Given the description of an element on the screen output the (x, y) to click on. 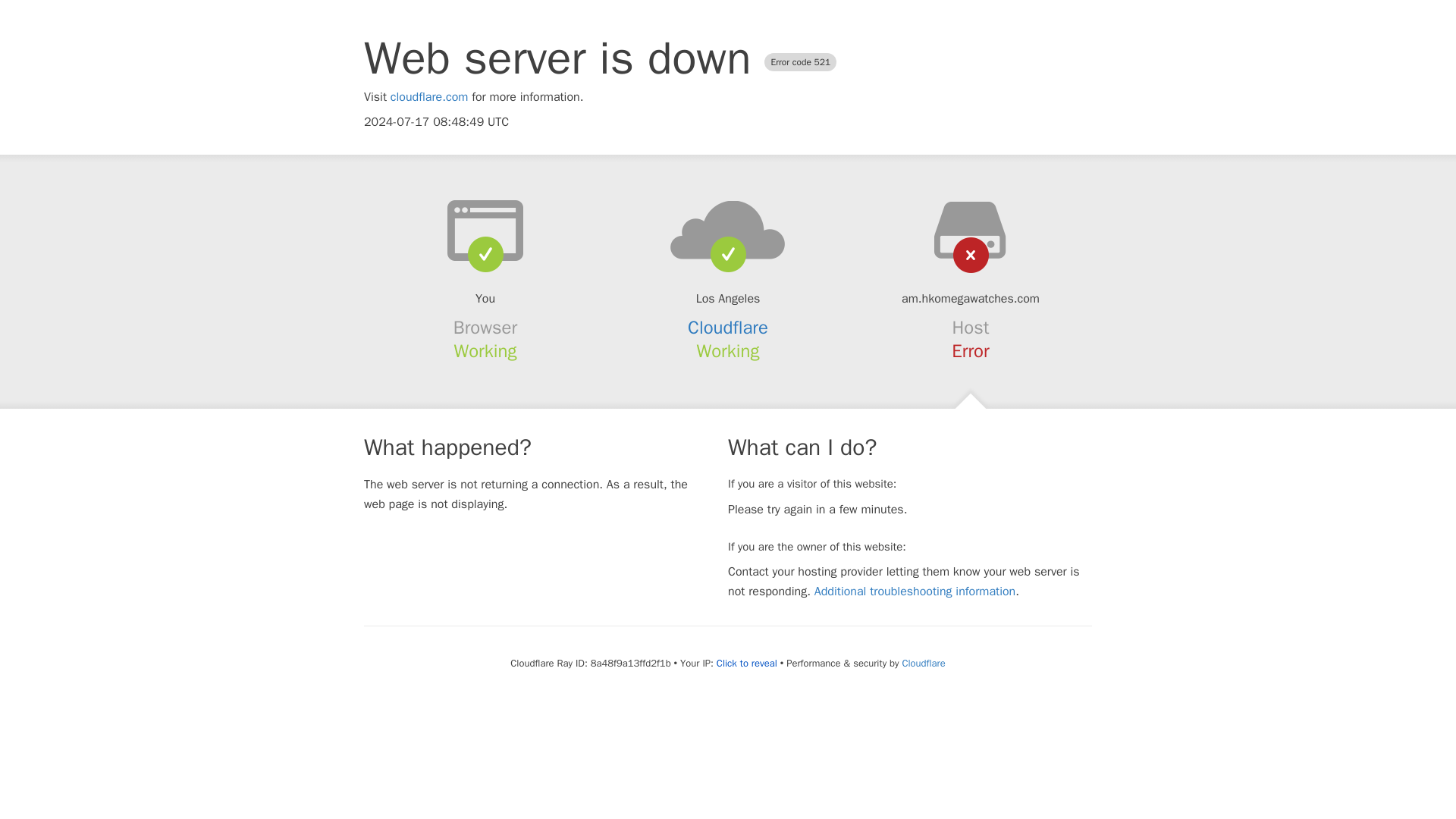
Additional troubleshooting information (913, 590)
Click to reveal (746, 663)
cloudflare.com (429, 96)
Cloudflare (727, 327)
Cloudflare (922, 662)
